Given the description of an element on the screen output the (x, y) to click on. 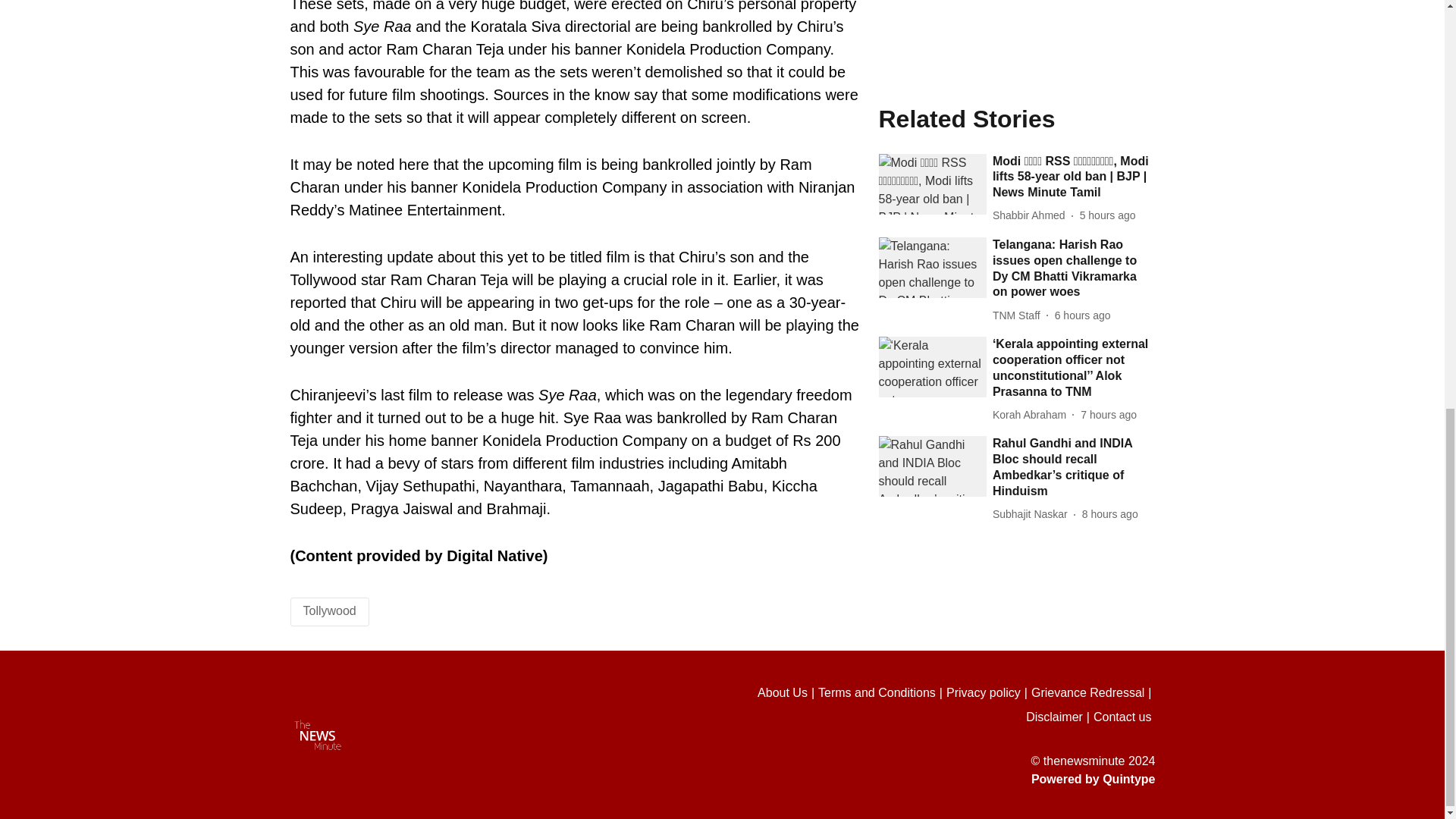
About Us (787, 692)
Terms and Conditions (882, 692)
Tollywood (329, 610)
Privacy policy (988, 692)
